Given the description of an element on the screen output the (x, y) to click on. 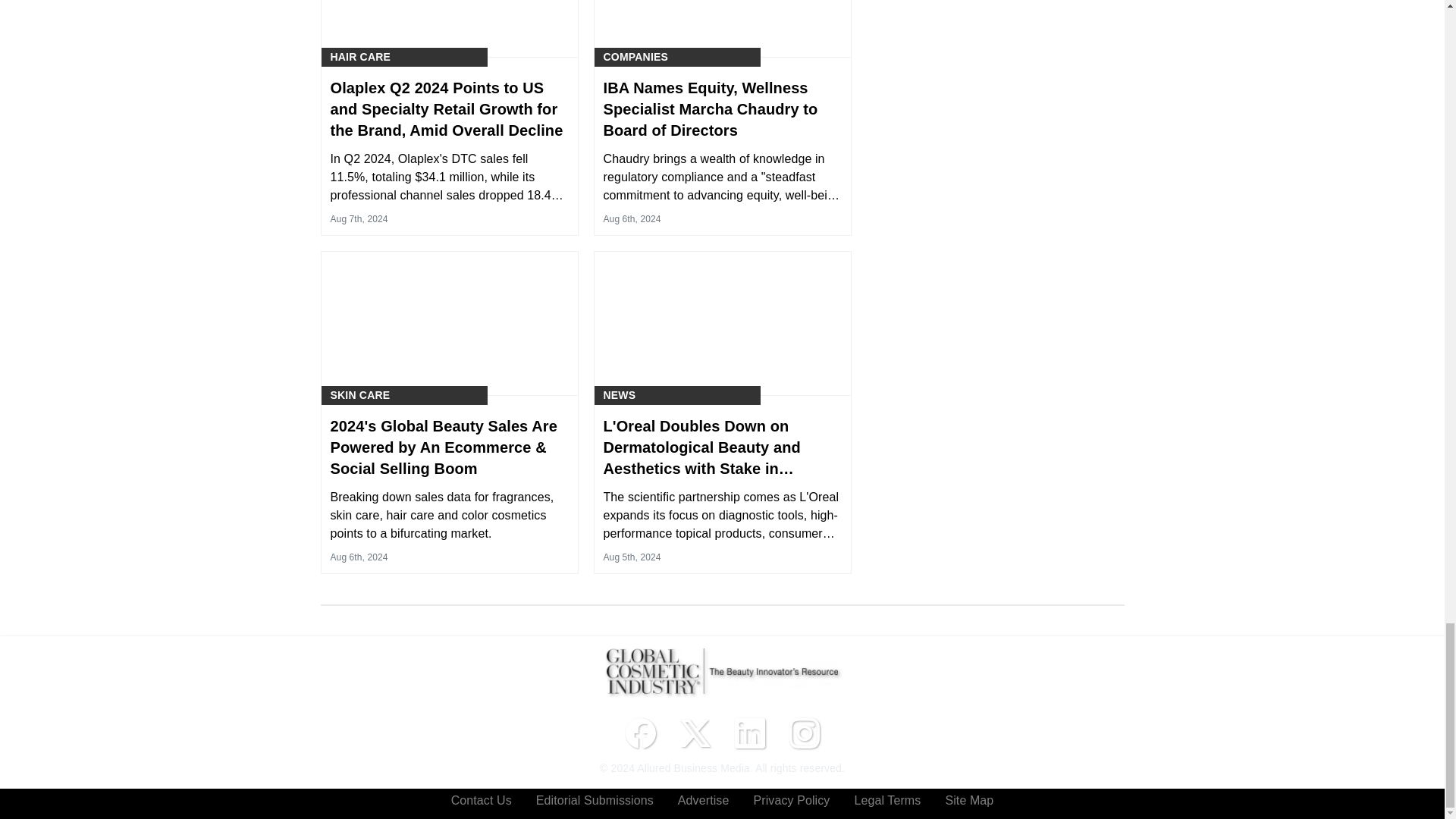
LinkedIn icon (748, 733)
Instagram icon (803, 733)
Facebook icon (639, 733)
Twitter X icon (694, 733)
